Given the description of an element on the screen output the (x, y) to click on. 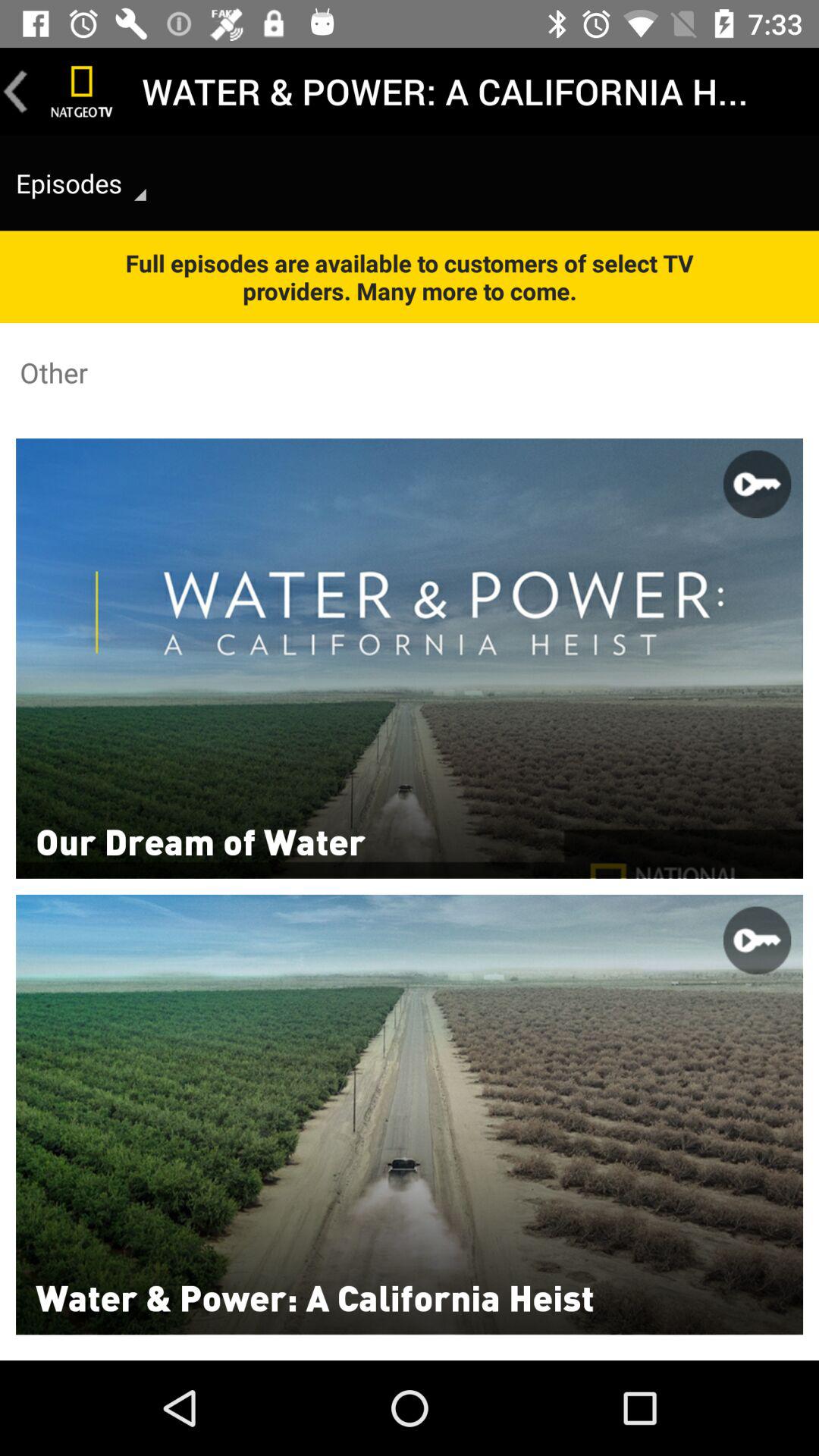
launch our dream of icon (200, 840)
